Given the description of an element on the screen output the (x, y) to click on. 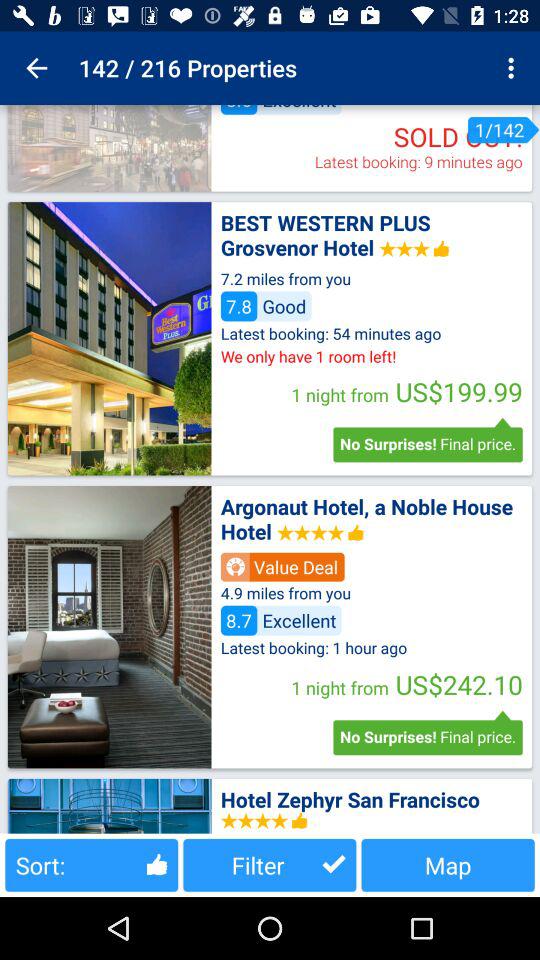
select hotel (109, 338)
